Given the description of an element on the screen output the (x, y) to click on. 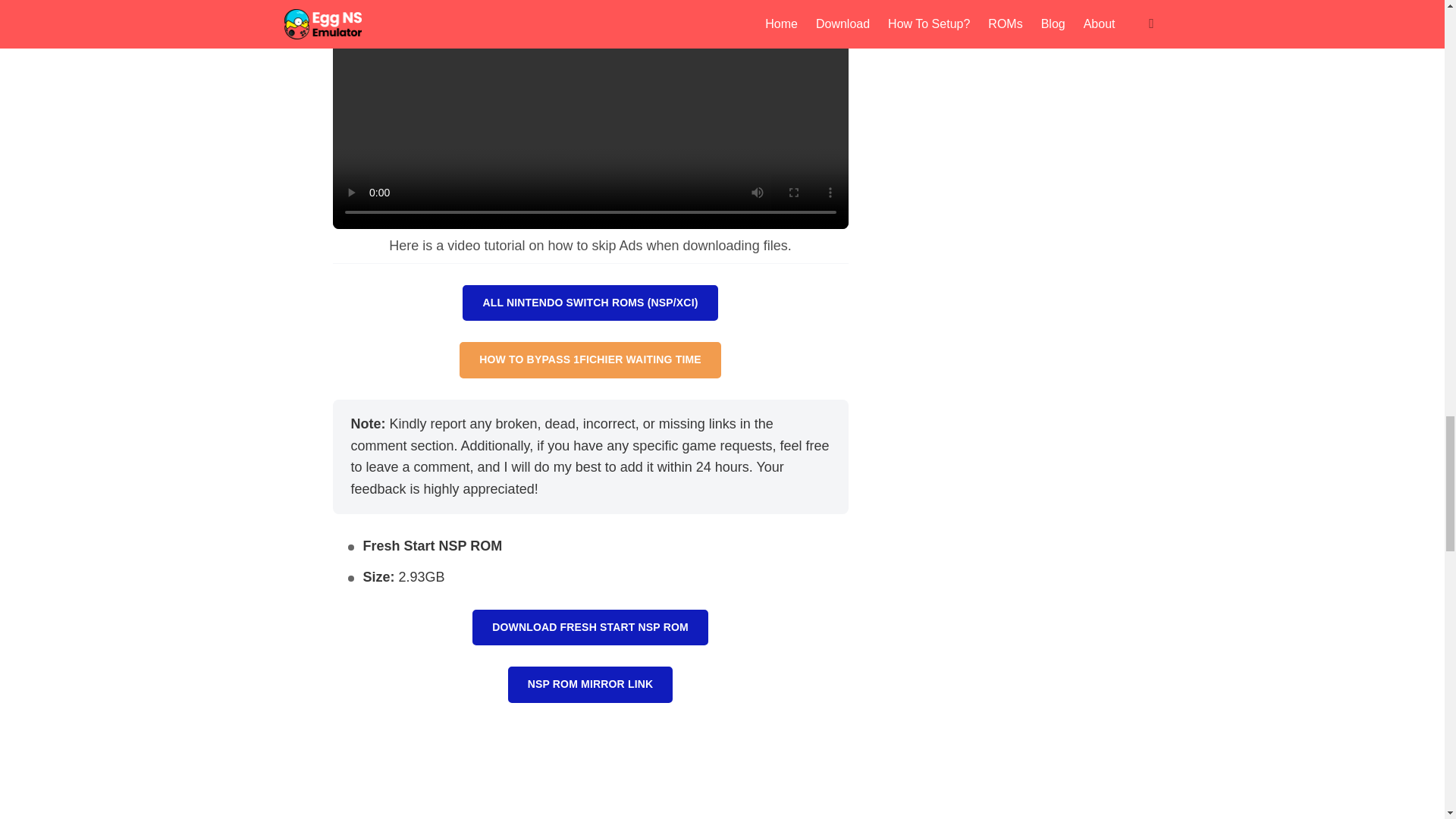
NSP ROM MIRROR LINK (590, 684)
DOWNLOAD FRESH START NSP ROM (589, 627)
HOW TO BYPASS 1FICHIER WAITING TIME (590, 360)
